Given the description of an element on the screen output the (x, y) to click on. 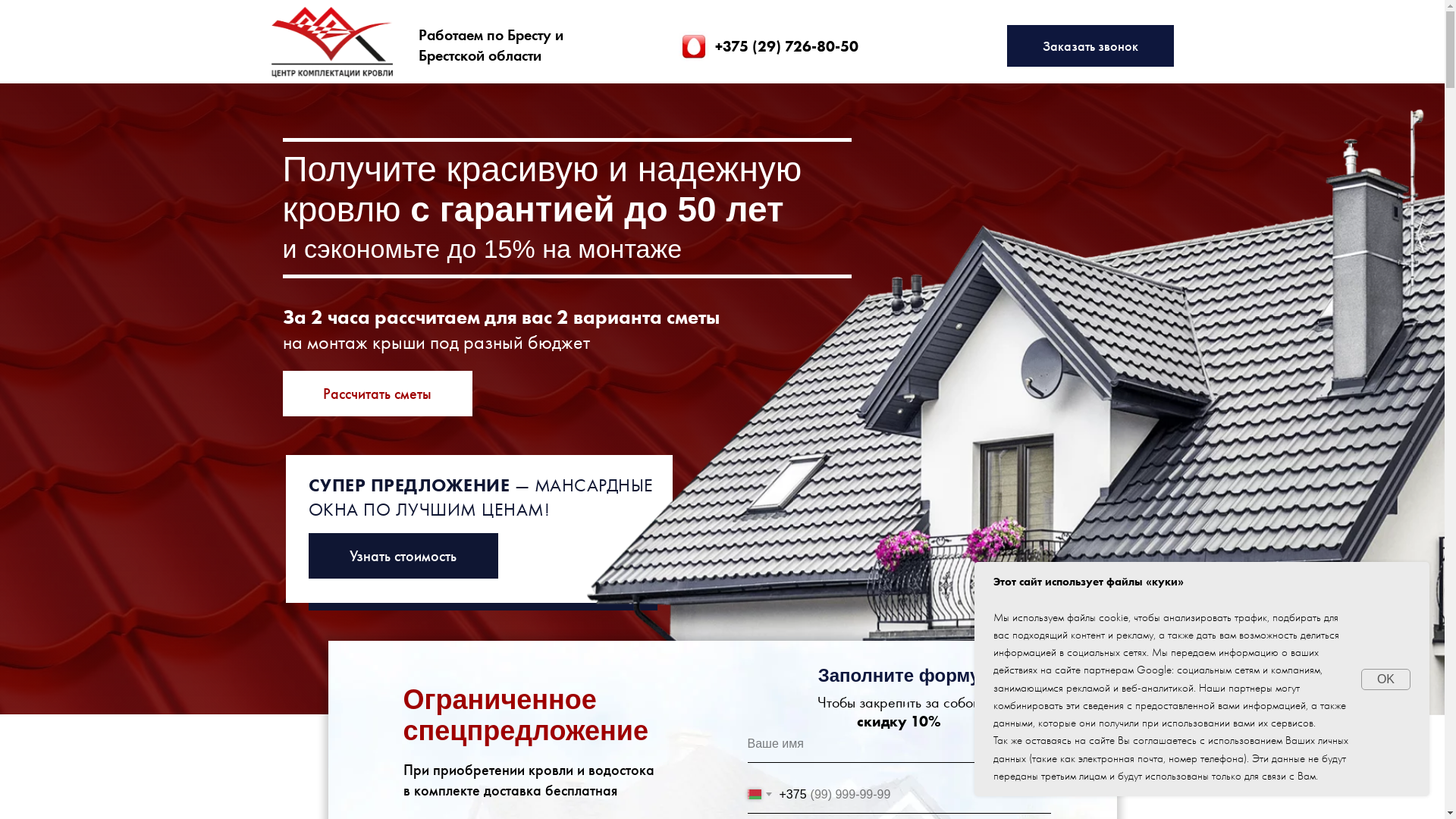
+375 (29) 726-80-50 Element type: text (785, 46)
